Given the description of an element on the screen output the (x, y) to click on. 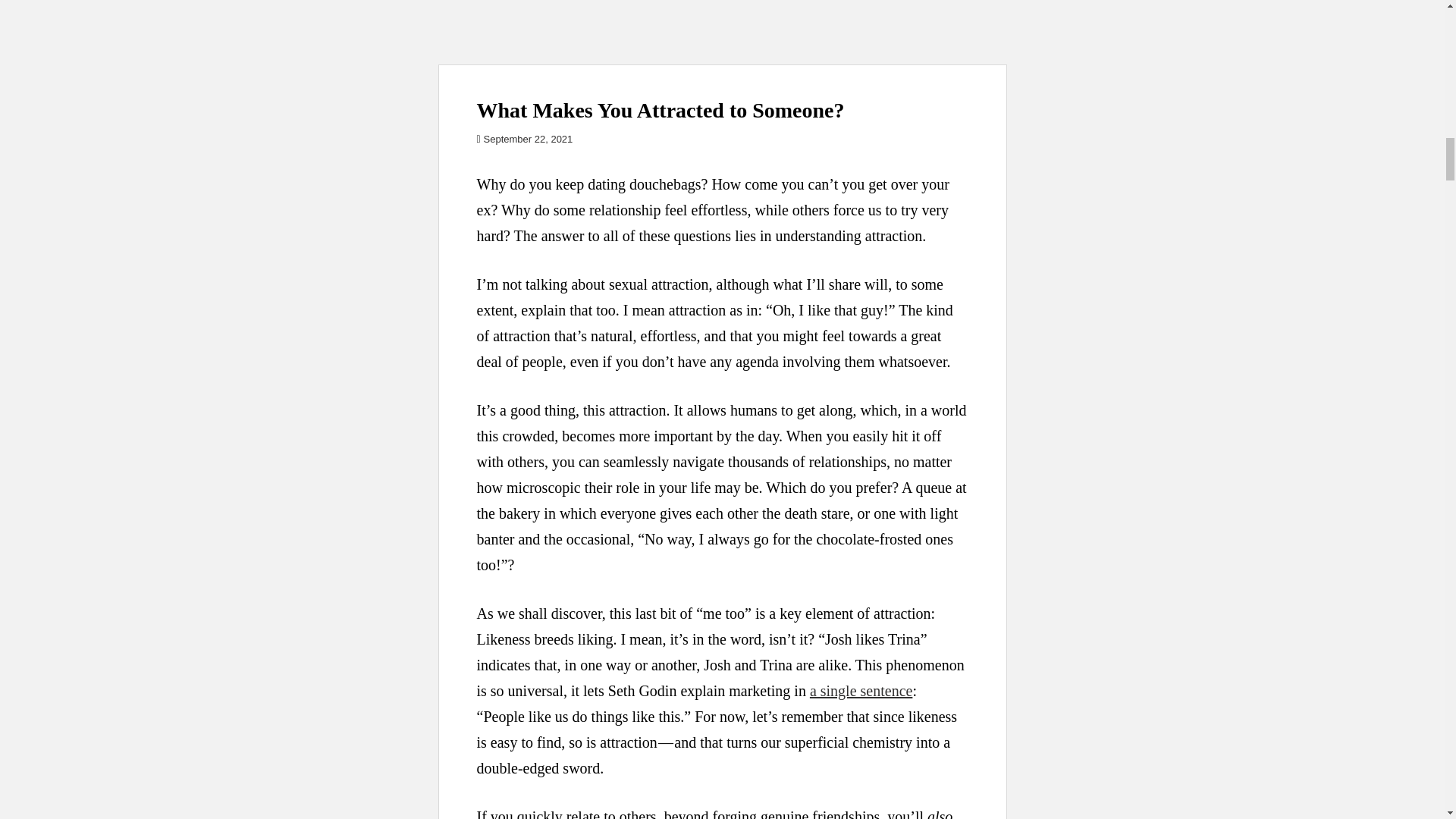
September 22, 2021 (528, 138)
a single sentence (860, 690)
What Makes You Attracted to Someone? (722, 32)
What Makes You Attracted to Someone? (660, 110)
